Given the description of an element on the screen output the (x, y) to click on. 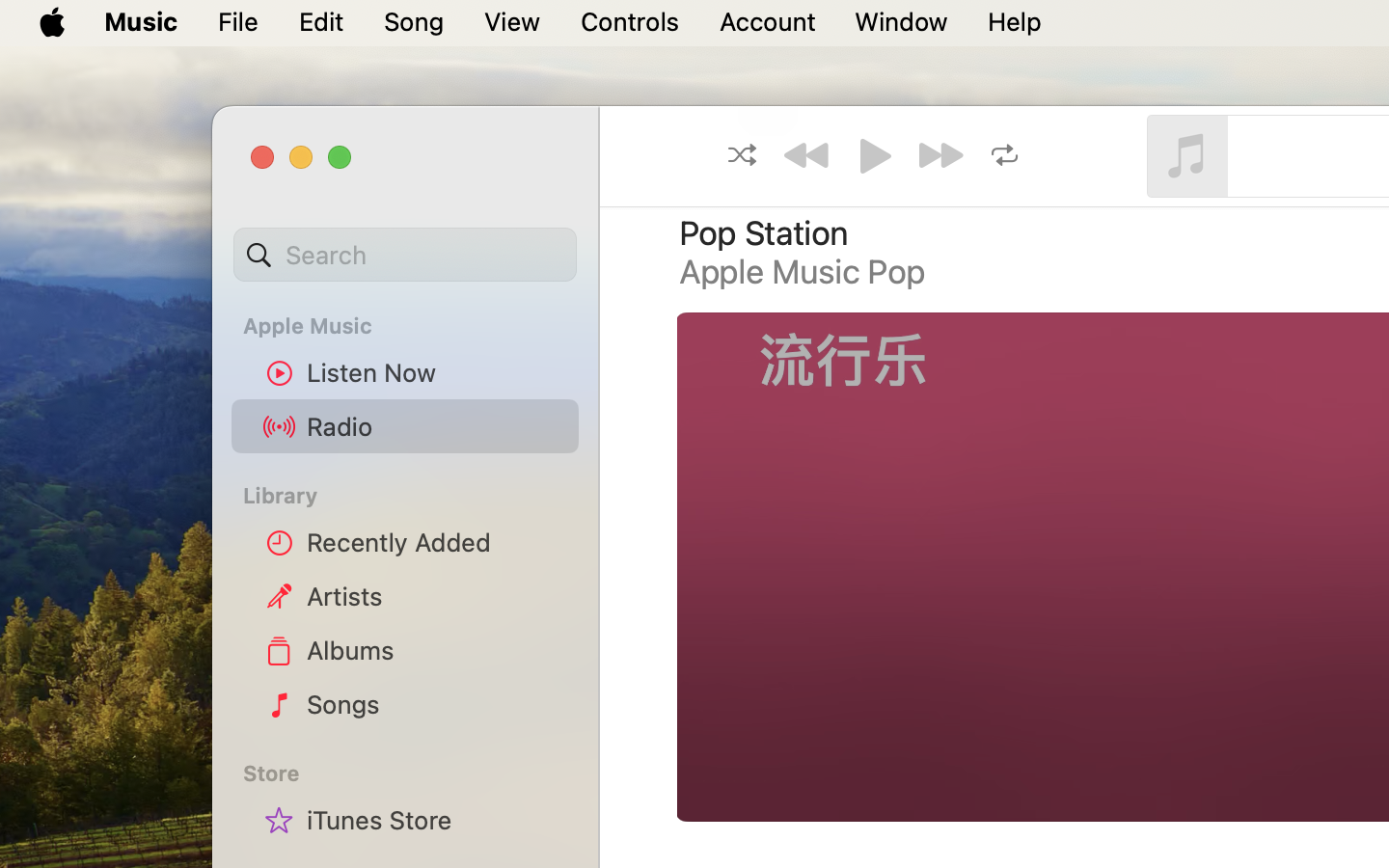
Pop Station Element type: AXStaticText (763, 233)
Store Element type: AXStaticText (416, 772)
Artists Element type: AXStaticText (434, 595)
Recently Added Element type: AXStaticText (434, 541)
Albums Element type: AXStaticText (434, 649)
